Given the description of an element on the screen output the (x, y) to click on. 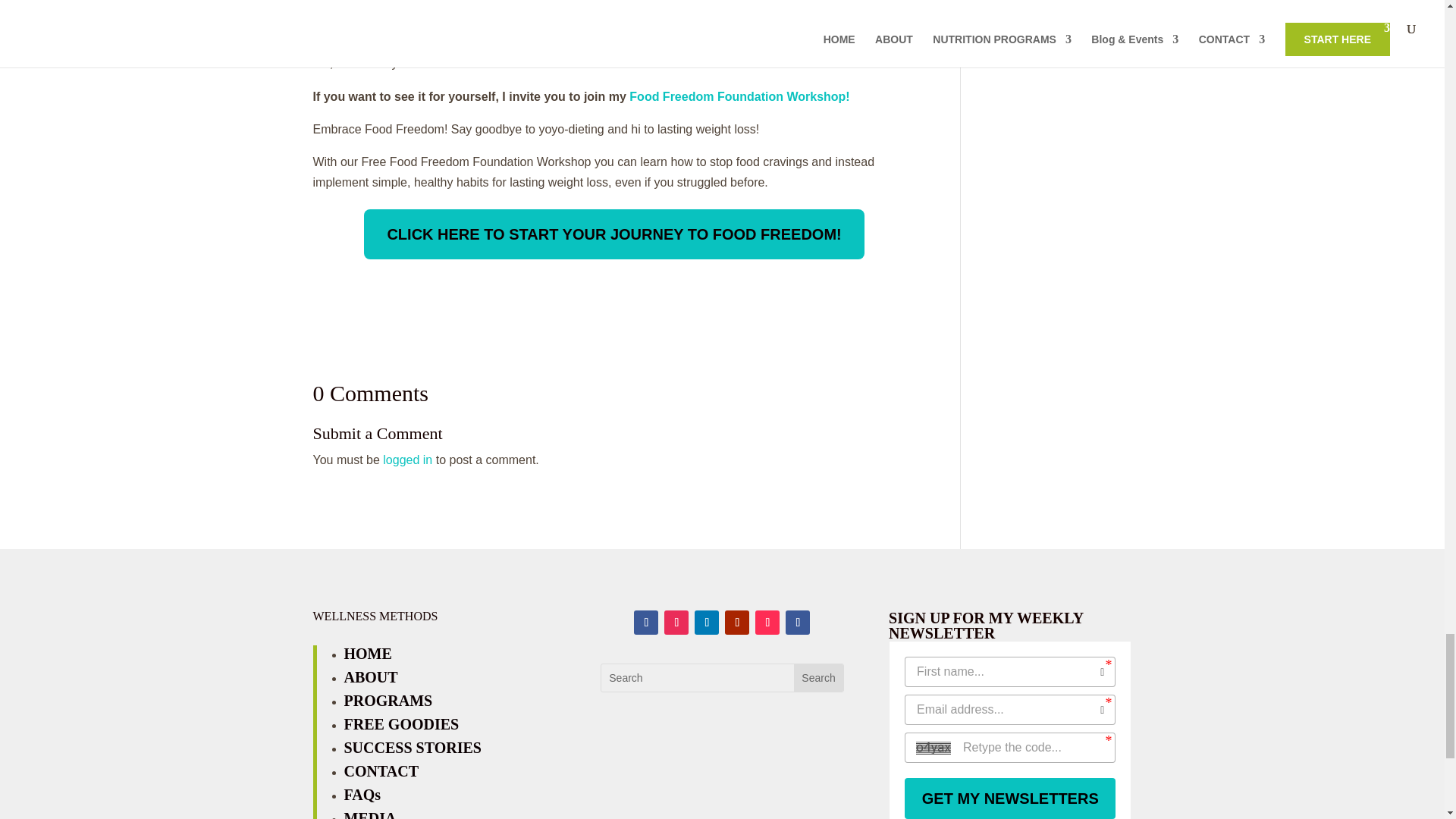
Search (818, 677)
Follow on Facebook (645, 622)
Follow on Facebook (797, 622)
Follow on Youtube (737, 622)
Follow on TikTok (766, 622)
Follow on LinkedIn (706, 622)
Follow on Instagram (675, 622)
Search (818, 677)
